Given the description of an element on the screen output the (x, y) to click on. 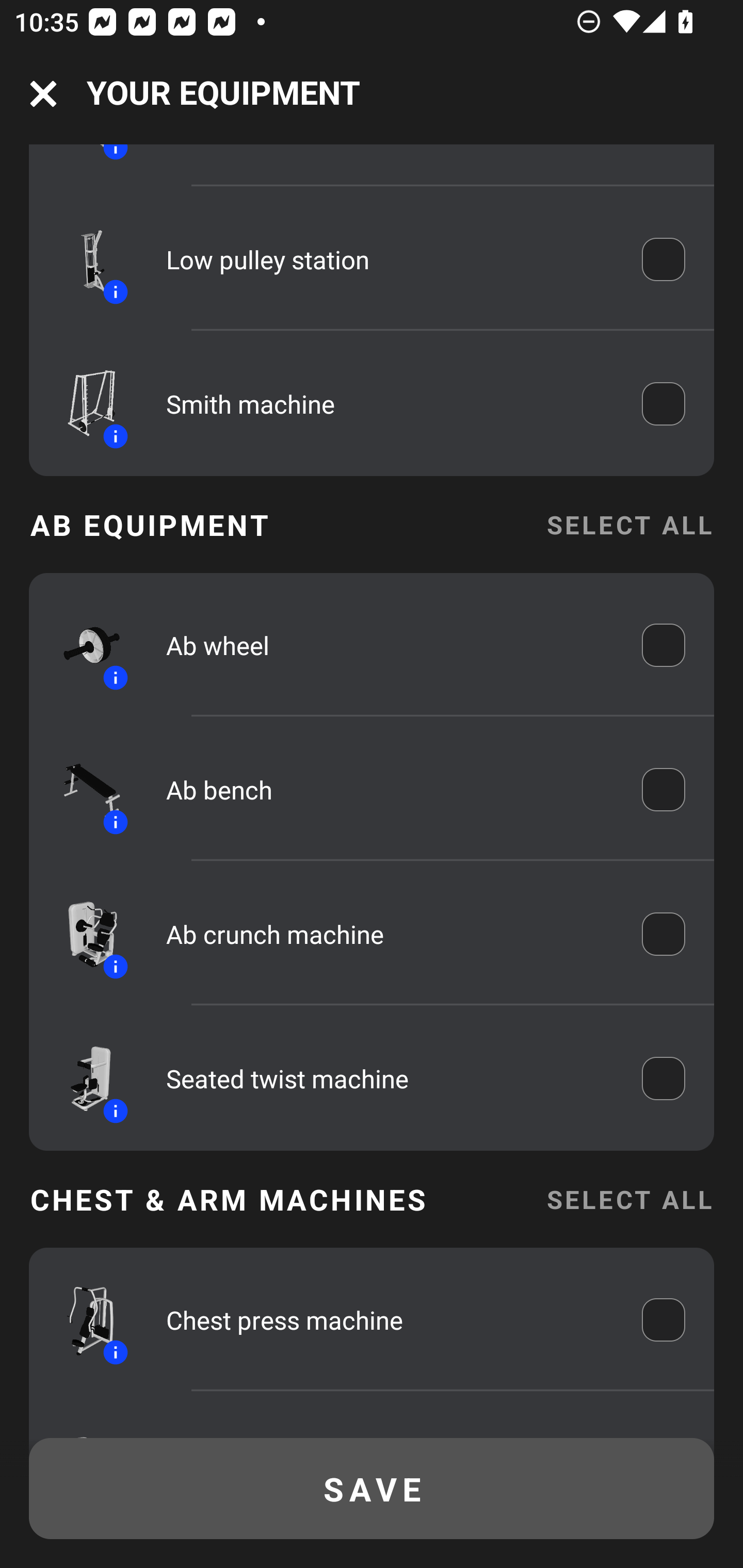
Navigation icon (43, 93)
Equipment icon Information icon (82, 259)
Low pulley station (389, 259)
Equipment icon Information icon (82, 403)
Smith machine (389, 403)
SELECT ALL (629, 524)
Equipment icon Information icon (82, 645)
Ab wheel (389, 645)
Equipment icon Information icon (82, 789)
Ab bench (389, 789)
Equipment icon Information icon (82, 933)
Ab crunch machine (389, 933)
Equipment icon Information icon (82, 1077)
Seated twist machine (389, 1077)
SELECT ALL (629, 1198)
Equipment icon Information icon (82, 1319)
Chest press machine (389, 1319)
SAVE (371, 1488)
